Given the description of an element on the screen output the (x, y) to click on. 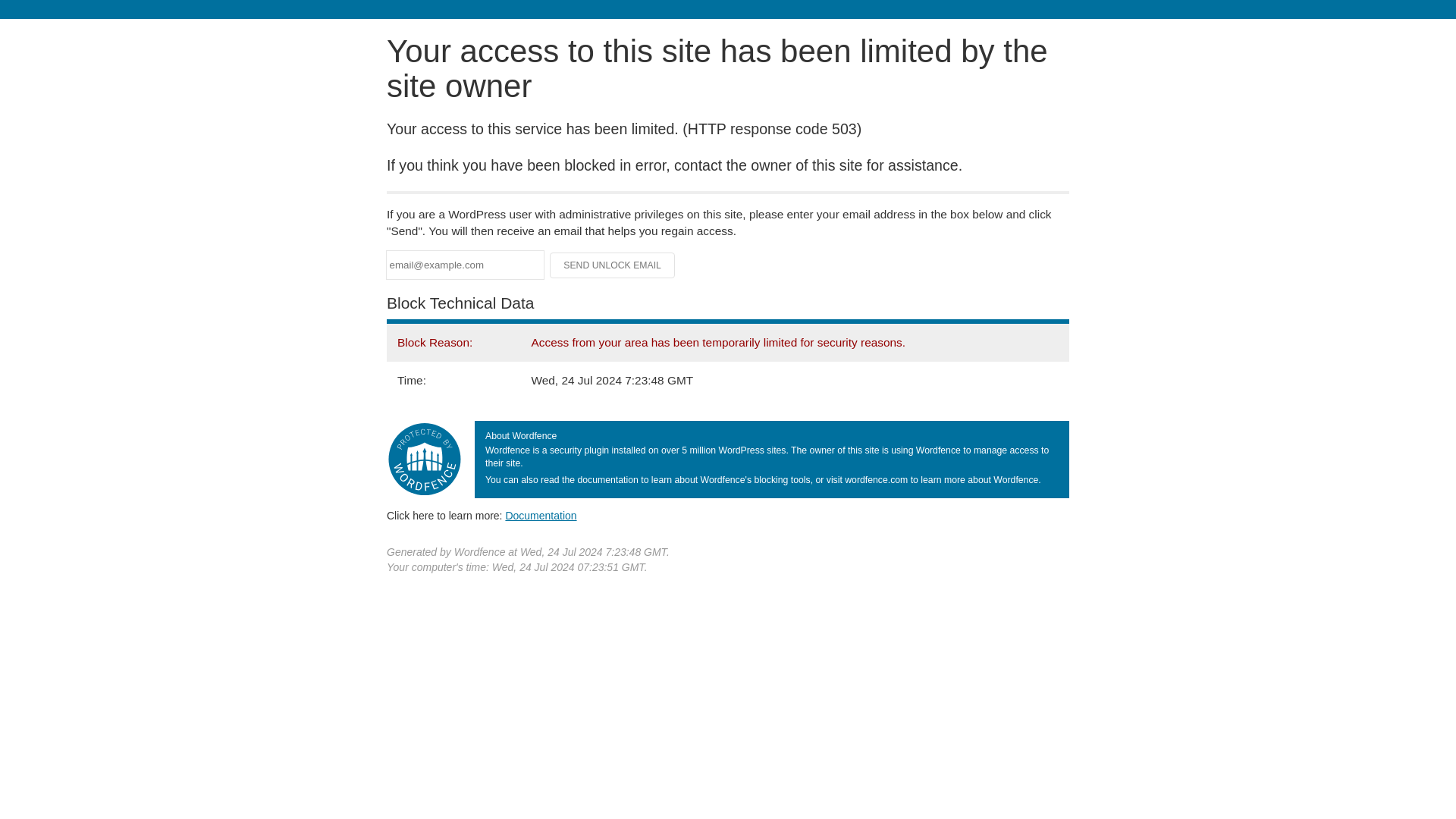
Send Unlock Email (612, 265)
Documentation (540, 515)
Send Unlock Email (612, 265)
